Given the description of an element on the screen output the (x, y) to click on. 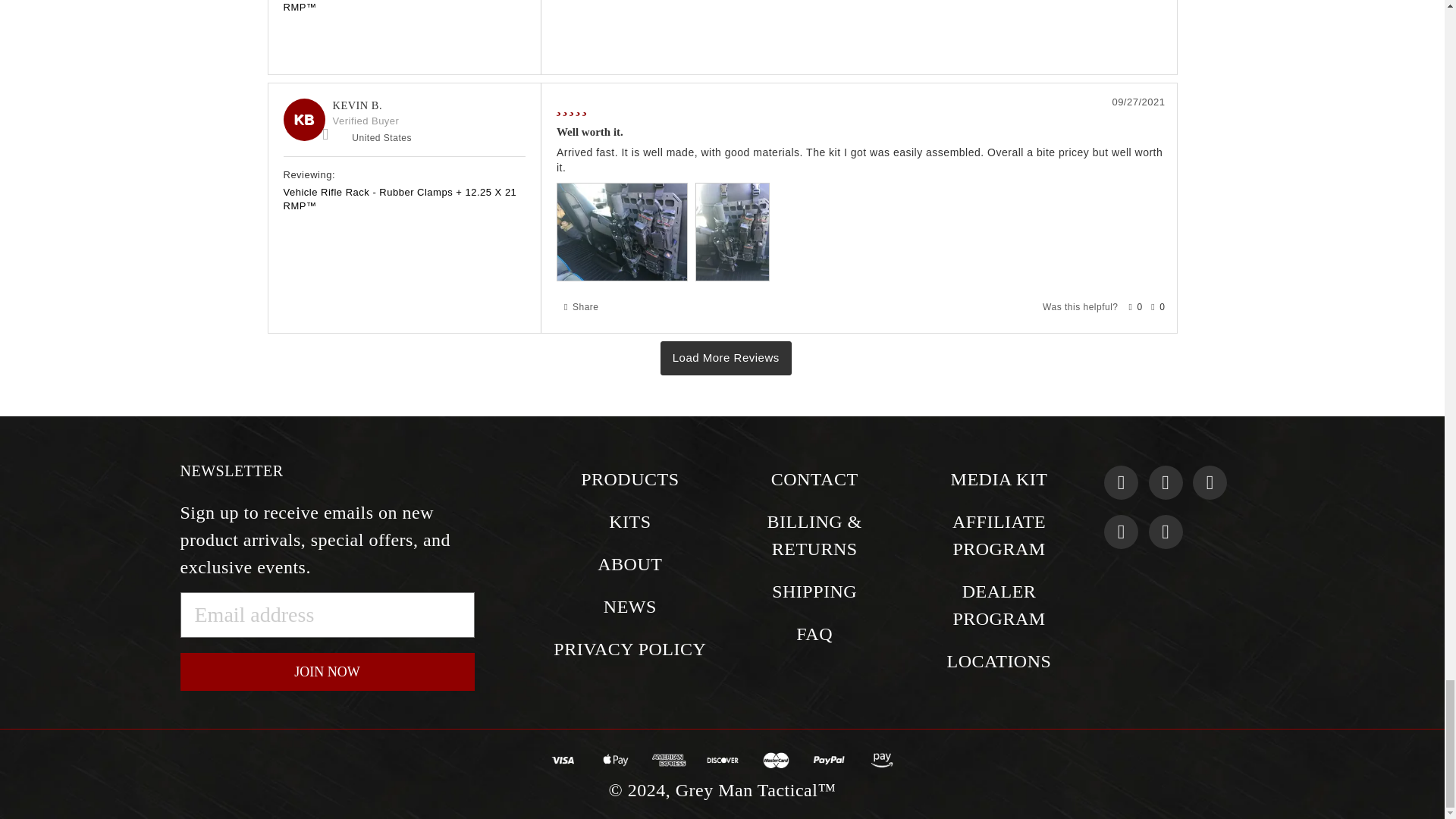
Grey Man Tactical on YouTube (1165, 531)
Grey Man Tactical on Instagram (1165, 482)
Grey Man Tactical on Pinterest (1120, 531)
Grey Man Tactical on Facebook (1120, 482)
Grey Man Tactical on Twitter (1209, 482)
